Given the description of an element on the screen output the (x, y) to click on. 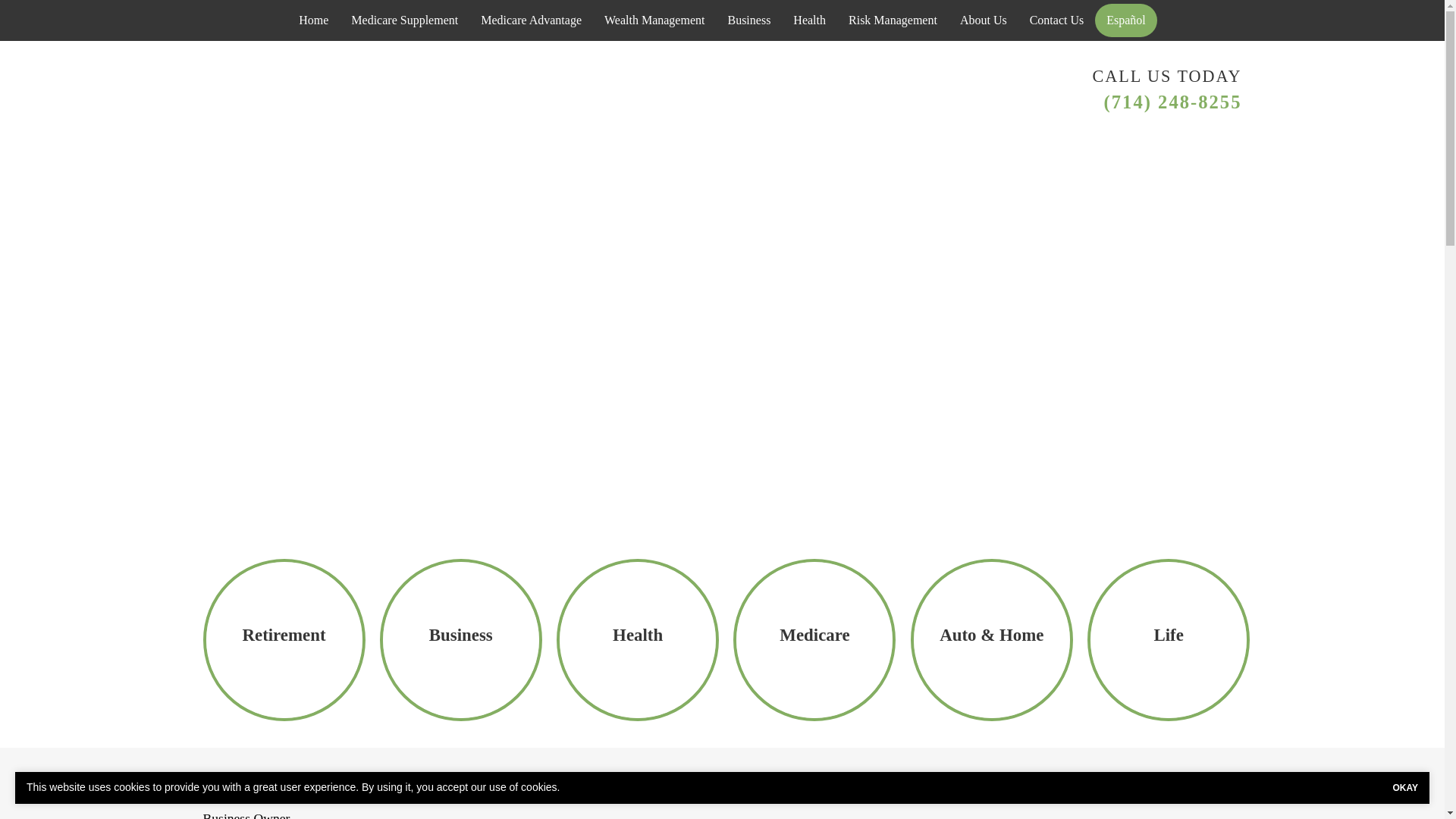
Risk Management (893, 20)
Home (312, 20)
Health (809, 20)
About Us (983, 20)
Wealth Management (654, 20)
Medicare Supplement (403, 20)
Business (748, 20)
Medicare Advantage (530, 20)
